Given the description of an element on the screen output the (x, y) to click on. 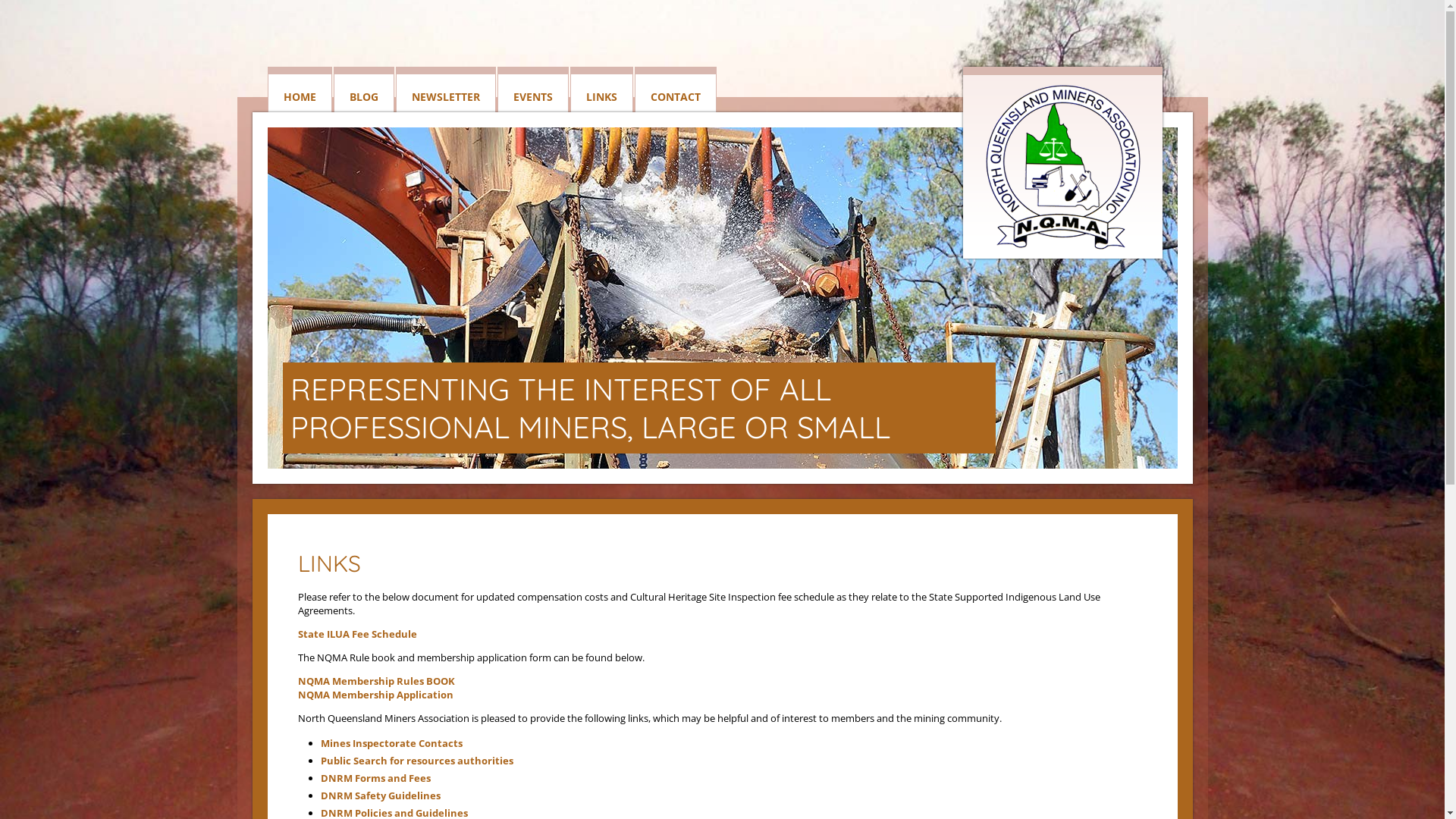
Mines Inspectorate Contacts Element type: text (390, 742)
BLOG Element type: text (363, 92)
NQMA Membership Rules BOOK Element type: text (375, 680)
NEWSLETTER Element type: text (445, 92)
EVENTS Element type: text (532, 92)
DNRM Safety Guidelines Element type: text (379, 795)
HOME Element type: text (298, 92)
DNRM Forms and Fees Element type: text (374, 777)
CONTACT Element type: text (674, 92)
Public Search for resources authorities Element type: text (416, 760)
LINKS Element type: text (601, 92)
NQMA Membership Application Element type: text (374, 694)
State ILUA Fee Schedule Element type: text (356, 633)
